Given the description of an element on the screen output the (x, y) to click on. 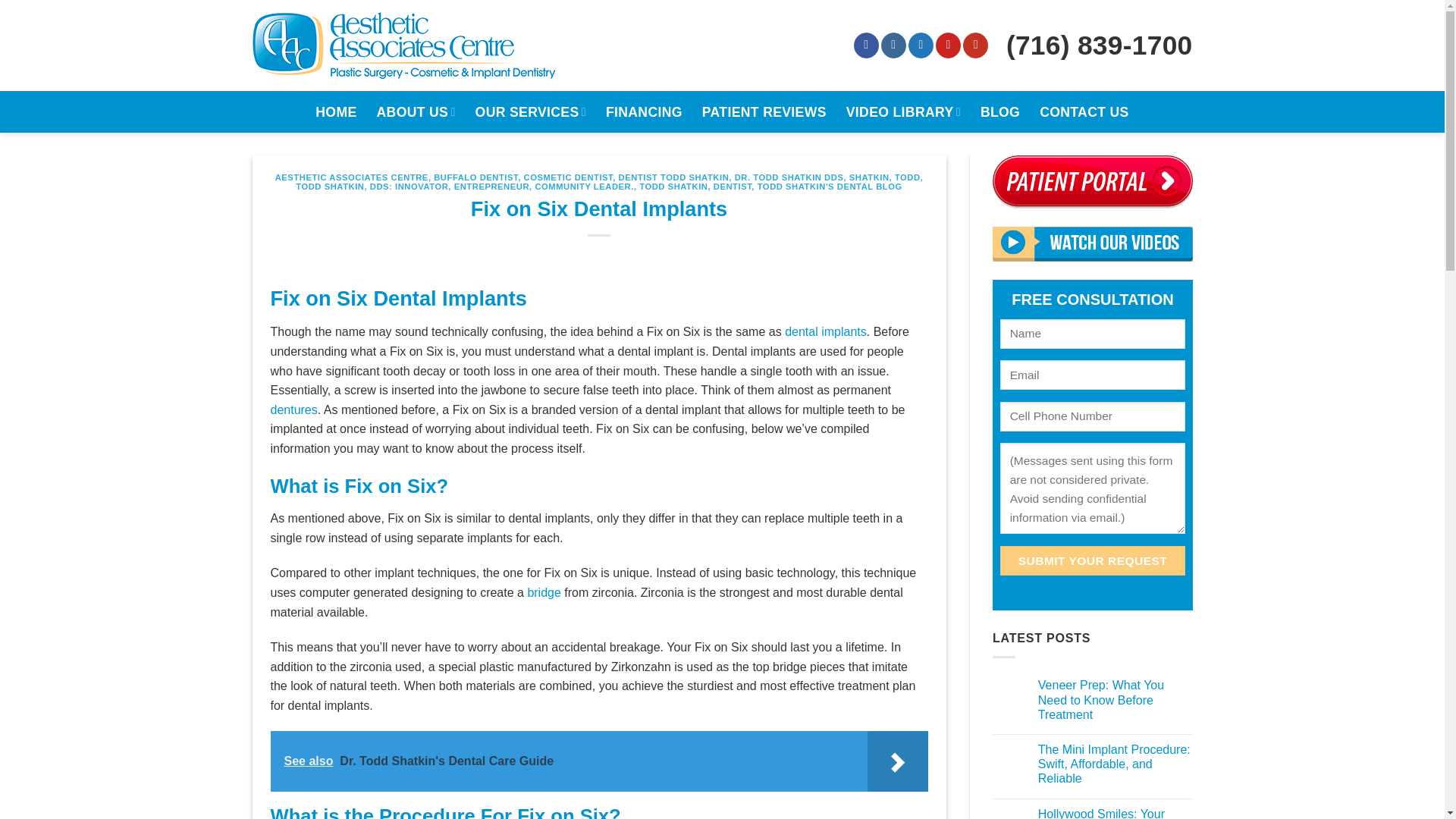
CONTACT US (1084, 111)
COSMETIC DENTIST (568, 176)
AESTHETIC ASSOCIATES CENTRE (351, 176)
Follow on YouTube (975, 45)
PATIENT REVIEWS (764, 111)
Follow on Twitter (920, 45)
OUR SERVICES (531, 111)
Follow on Facebook (866, 45)
FINANCING (643, 111)
VIDEO LIBRARY (902, 111)
